Given the description of an element on the screen output the (x, y) to click on. 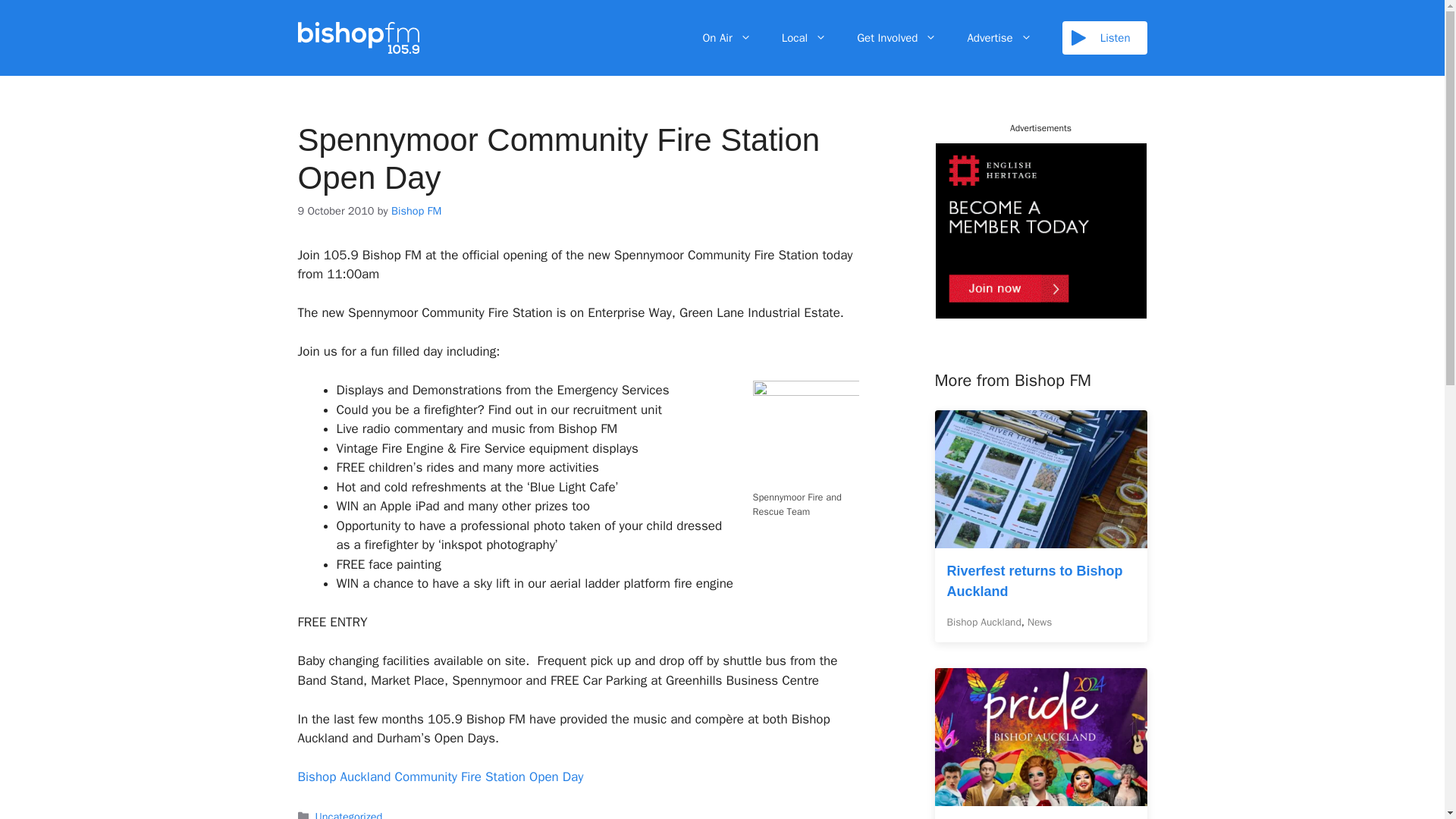
News (1039, 621)
Ginger Johnson to headline Pride Bishop Auckland 2024 (1040, 796)
Local (804, 37)
On Air (726, 37)
Get Involved (896, 37)
Bishop FM (416, 210)
Bishop Auckland (983, 621)
Riverfest returns to Bishop Auckland (1040, 537)
Uncategorized (348, 814)
Advertise (999, 37)
Listen (1104, 37)
Riverfest returns to Bishop Auckland (1034, 580)
Spennymoor Fire and Rescue Team (805, 433)
Bishop Auckland Community Fire Station Open Day (440, 776)
View all posts by Bishop FM (416, 210)
